Given the description of an element on the screen output the (x, y) to click on. 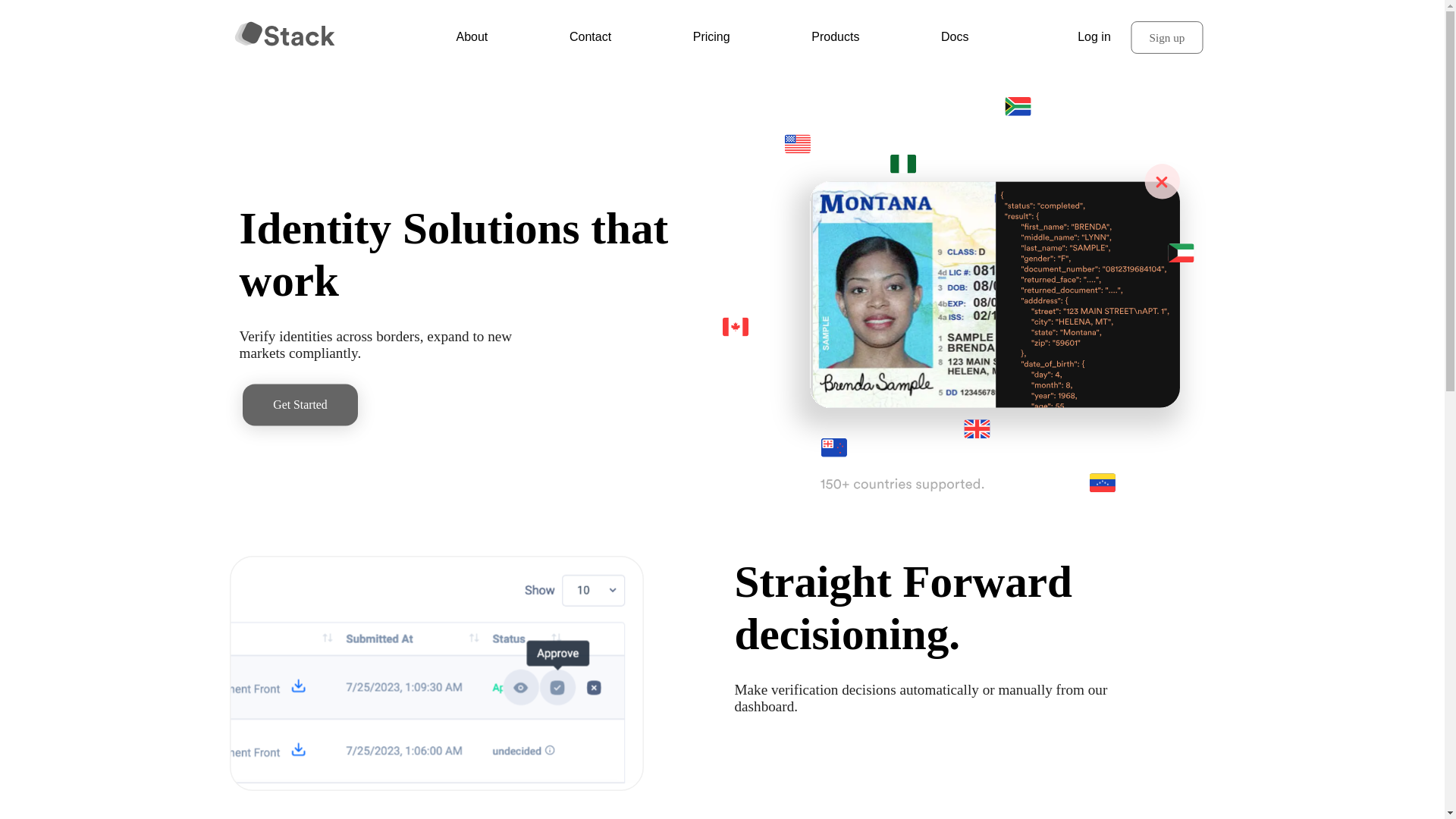
Log in (1093, 37)
Sign up (1169, 38)
Sign up (1157, 36)
Contact (590, 37)
Get Started (300, 404)
Pricing (711, 37)
Get Started (303, 406)
